Given the description of an element on the screen output the (x, y) to click on. 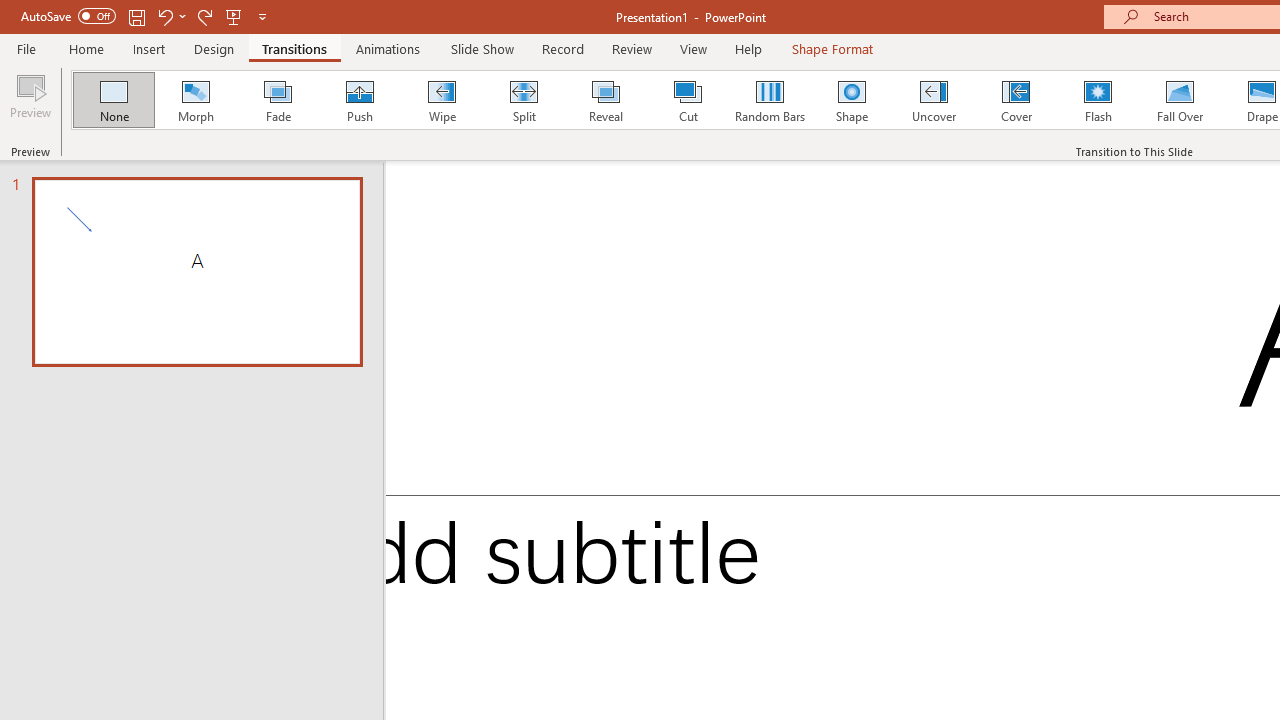
Uncover (934, 100)
Push (359, 100)
Flash (1098, 100)
